Given the description of an element on the screen output the (x, y) to click on. 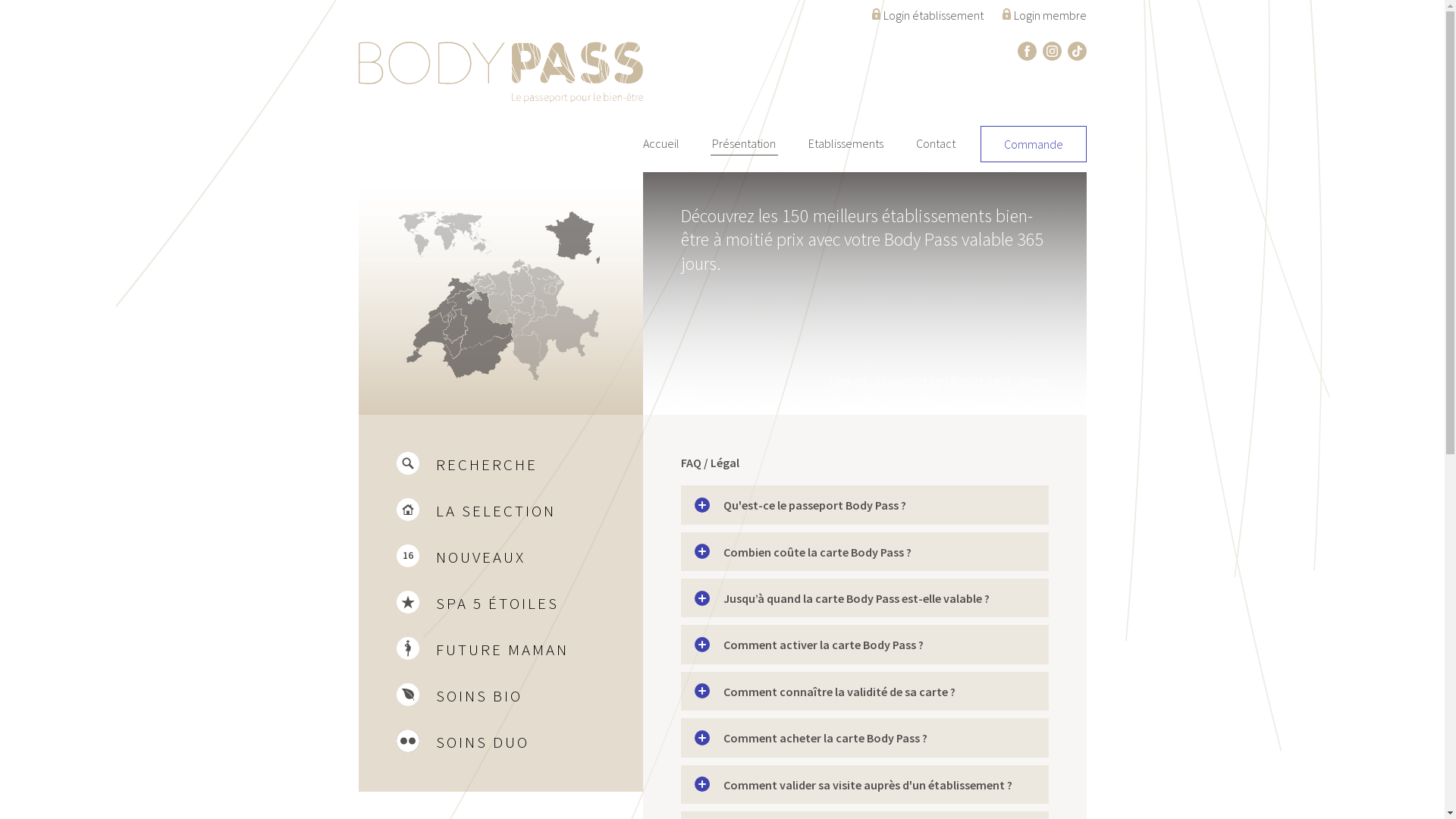
Open Element type: text (701, 597)
Open Element type: text (701, 783)
Contact Element type: text (935, 142)
Accueil Element type: text (661, 142)
Open Element type: text (701, 550)
Commande Element type: text (1033, 143)
Etablissements Element type: text (845, 142)
Lock Icon Login membre Element type: text (1044, 11)
Open Element type: text (701, 644)
Lenkerhof Gourmet Spa Resort, Lenk - Berne Element type: text (721, 293)
Open Element type: text (701, 690)
Open Element type: text (701, 737)
Open Element type: text (701, 504)
